Given the description of an element on the screen output the (x, y) to click on. 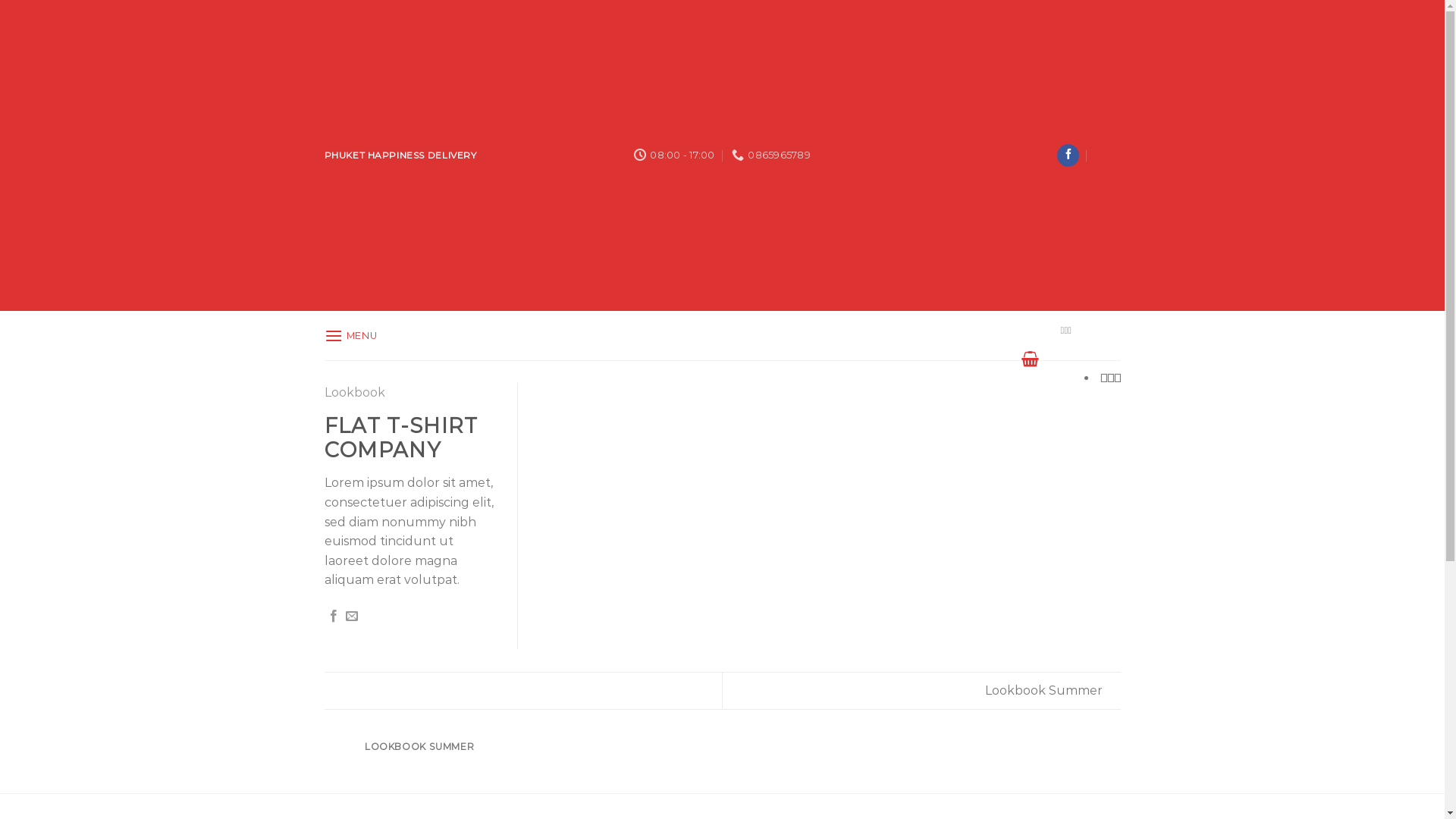
Share on Facebook Element type: hover (333, 616)
Lookbook Summer Element type: text (1052, 690)
08:00 - 17:00 Element type: text (674, 155)
Lookbook Element type: text (354, 392)
Follow on Facebook Element type: hover (1068, 155)
24 Flower Phuket - Phuket Happiness Delivery Element type: hover (721, 335)
Email to a Friend Element type: hover (351, 616)
MENU Element type: text (350, 335)
LOOKBOOK SUMMER Element type: text (419, 755)
0865965789 Element type: text (770, 155)
